Given the description of an element on the screen output the (x, y) to click on. 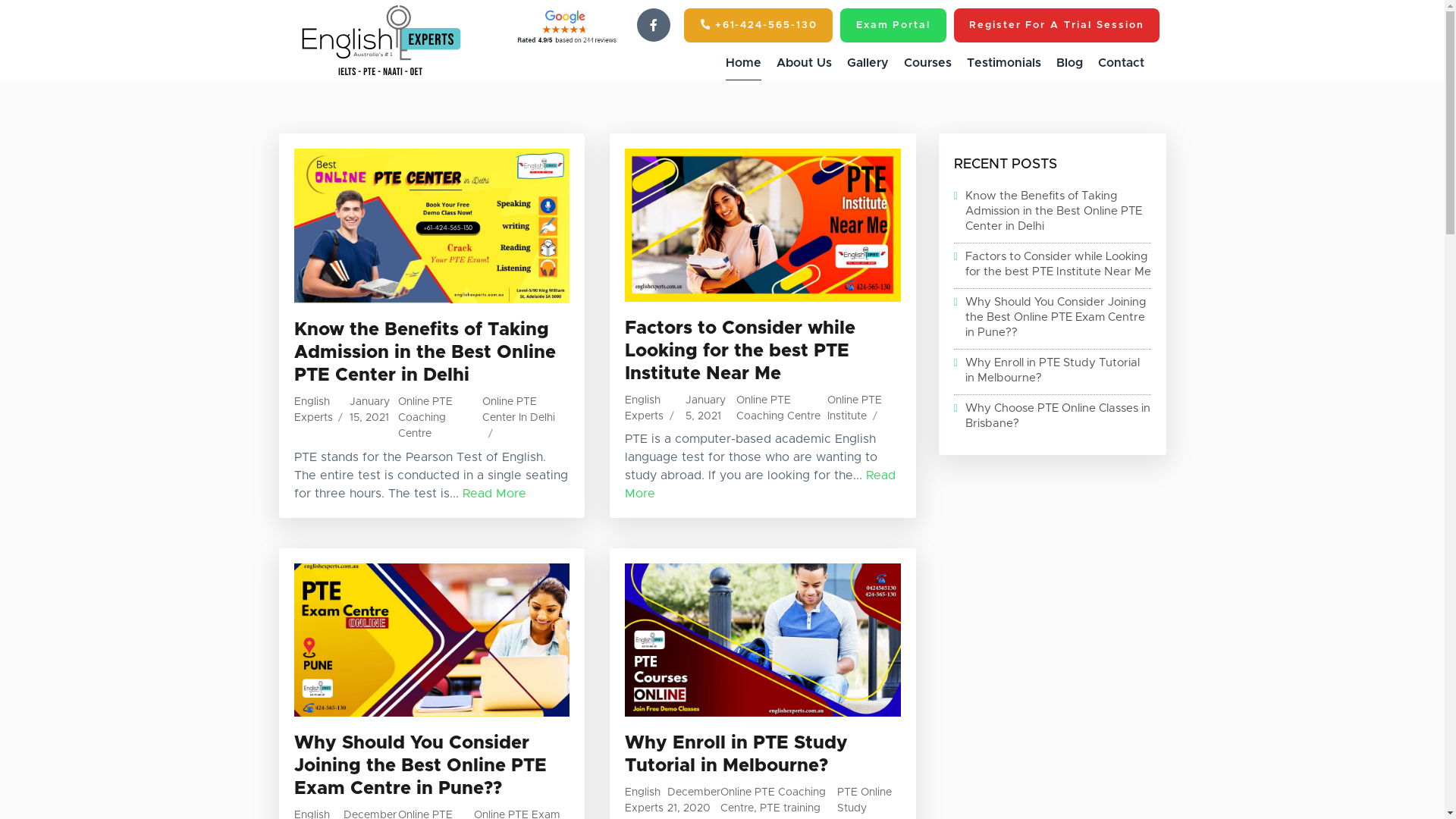
+61-424-565-130 Element type: text (758, 25)
Courses Element type: text (927, 63)
Why Enroll in PTE Study Tutorial in Melbourne? Element type: text (1052, 370)
Read More Element type: text (494, 493)
English Experts Element type: text (643, 408)
Contact Element type: text (1121, 63)
Online PTE Institute Element type: text (854, 408)
January 5, 2021 Element type: text (705, 408)
January 15, 2021 Element type: text (369, 409)
About Us Element type: text (803, 63)
Blog Element type: text (1068, 63)
Online PTE Coaching Centre Element type: text (772, 800)
Read More Element type: text (759, 484)
Online PTE Center In Delhi Element type: text (518, 409)
Online PTE Coaching Centre Element type: text (778, 408)
English Experts Element type: text (313, 409)
Online PTE Coaching Centre Element type: text (425, 417)
Register For A Trial Session Element type: text (1056, 25)
December 21, 2020 Element type: text (693, 800)
Exam Portal Element type: text (893, 25)
Testimonials Element type: text (1003, 63)
Why Choose PTE Online Classes in Brisbane? Element type: text (1052, 416)
English Experts Element type: text (643, 800)
Gallery Element type: text (867, 63)
Why Enroll in PTE Study Tutorial in Melbourne? Element type: text (735, 754)
Home Element type: text (742, 63)
